Given the description of an element on the screen output the (x, y) to click on. 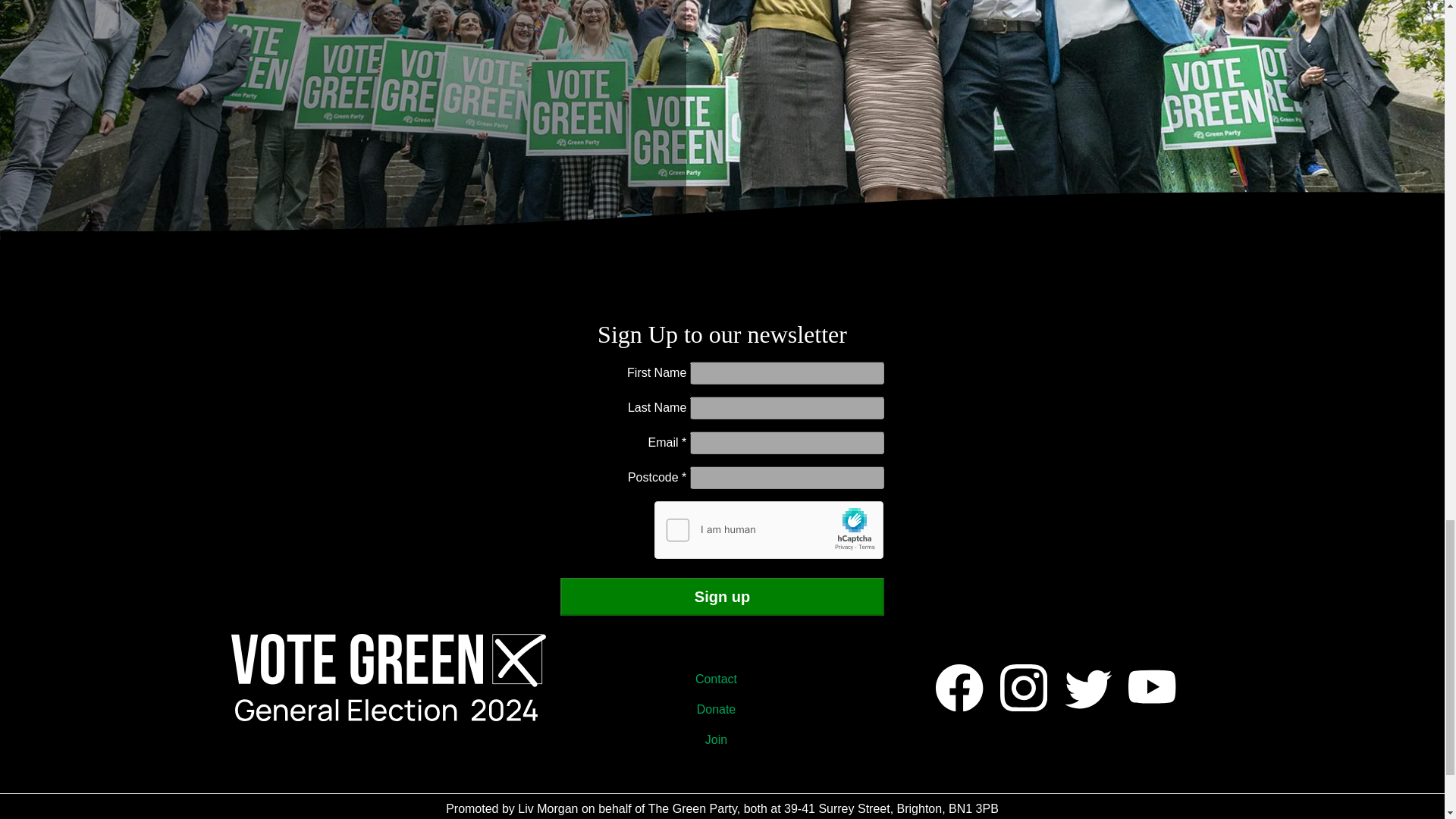
Sign up (722, 596)
Contact (721, 679)
Widget containing checkbox for hCaptcha security challenge (768, 530)
Sign up (722, 596)
Donate (721, 709)
Join (721, 739)
